Given the description of an element on the screen output the (x, y) to click on. 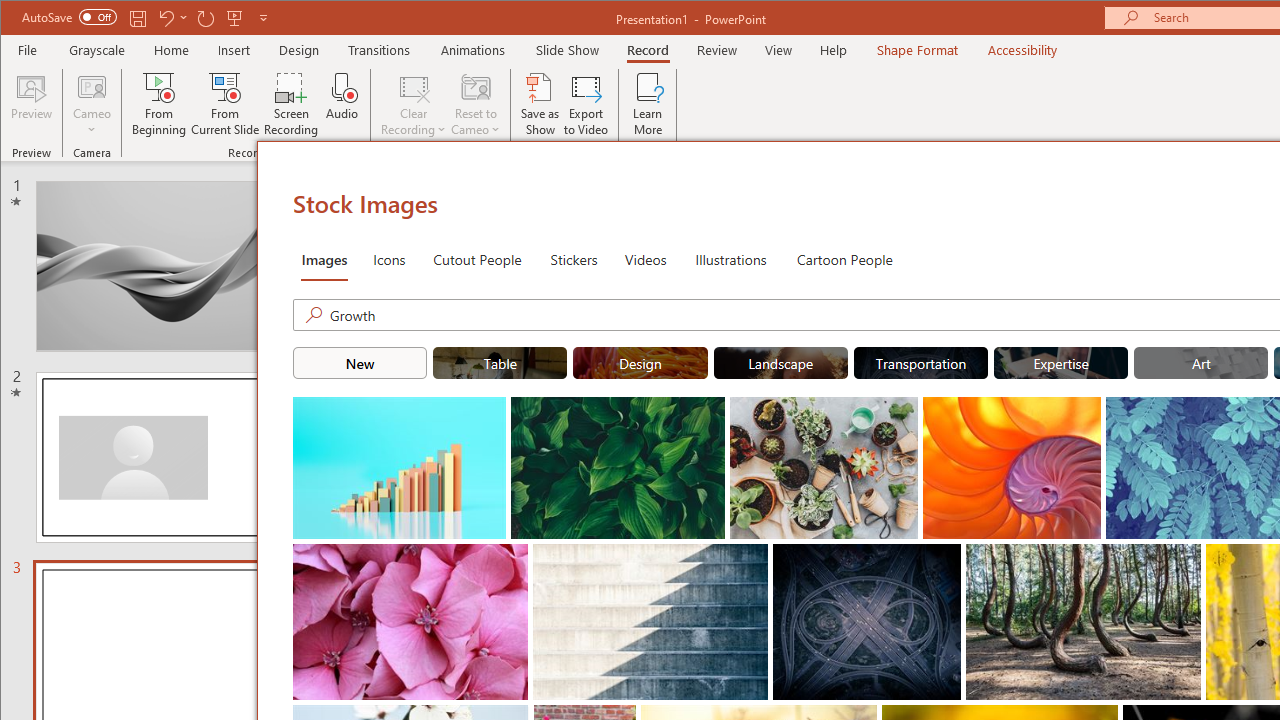
Transitions (379, 50)
Preview (31, 104)
Review (717, 50)
Redo (206, 17)
Illustrations (730, 258)
Quick Access Toolbar (146, 17)
"Landscape" Stock Images. (780, 362)
Stickers (574, 258)
Save (138, 17)
Save as Show (539, 104)
Animations (473, 50)
File Tab (28, 49)
